Given the description of an element on the screen output the (x, y) to click on. 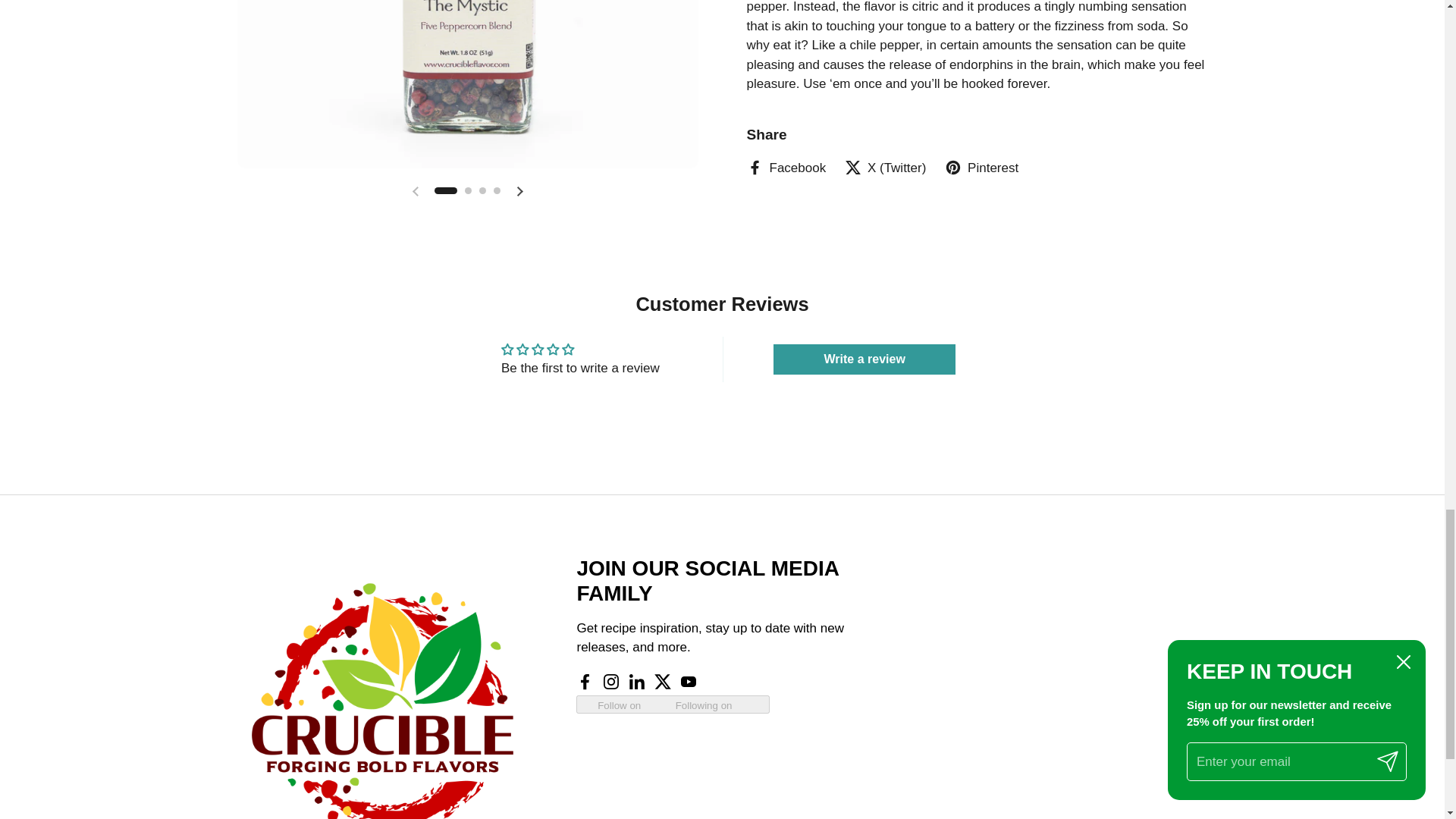
Share on facebook (785, 168)
Instagram (611, 682)
Write a review (864, 358)
Share on X (885, 168)
Pinterest (980, 168)
Share on pinterest (980, 168)
Facebook (585, 682)
Facebook (785, 168)
